Given the description of an element on the screen output the (x, y) to click on. 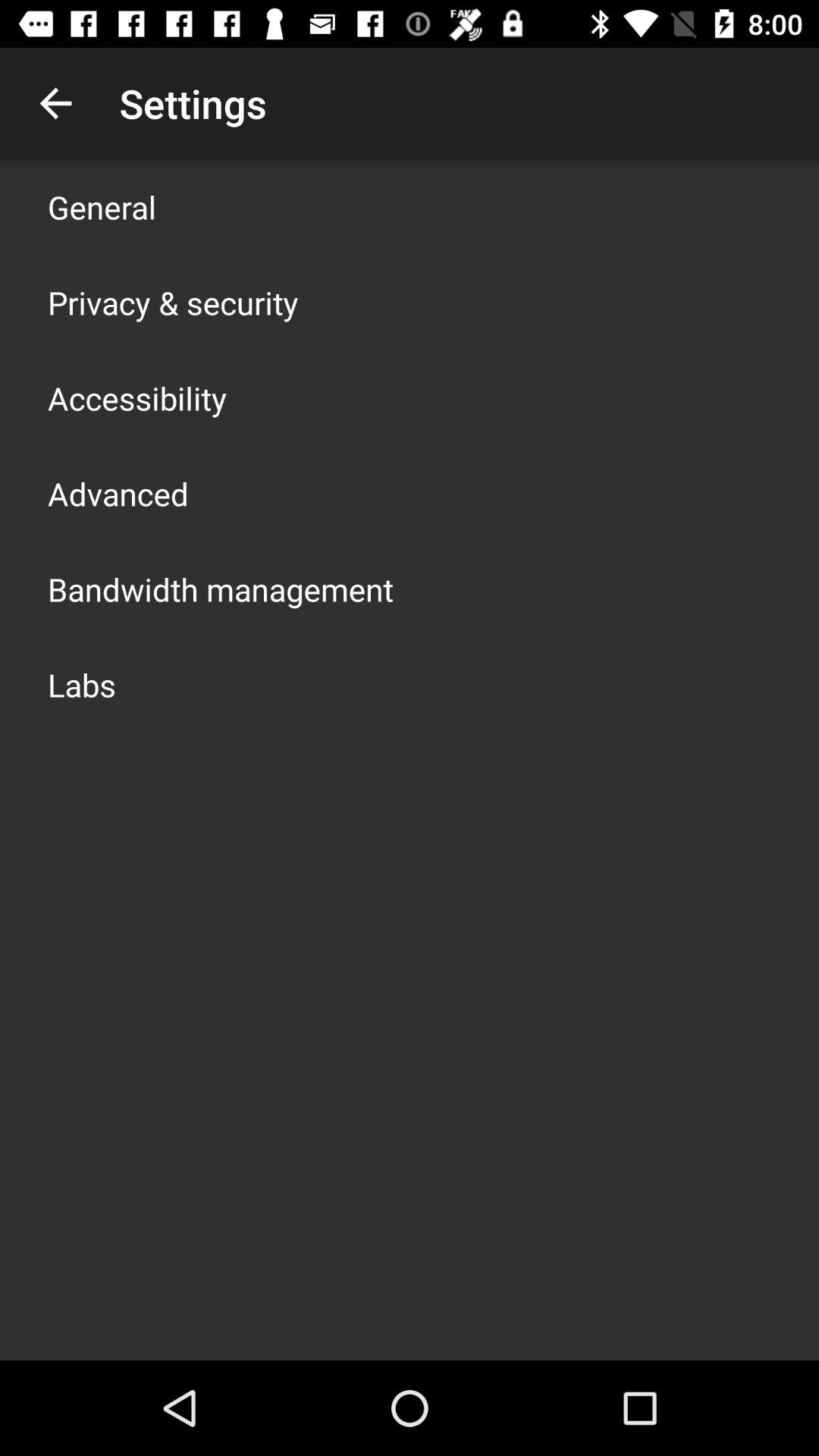
flip until the accessibility icon (136, 397)
